Given the description of an element on the screen output the (x, y) to click on. 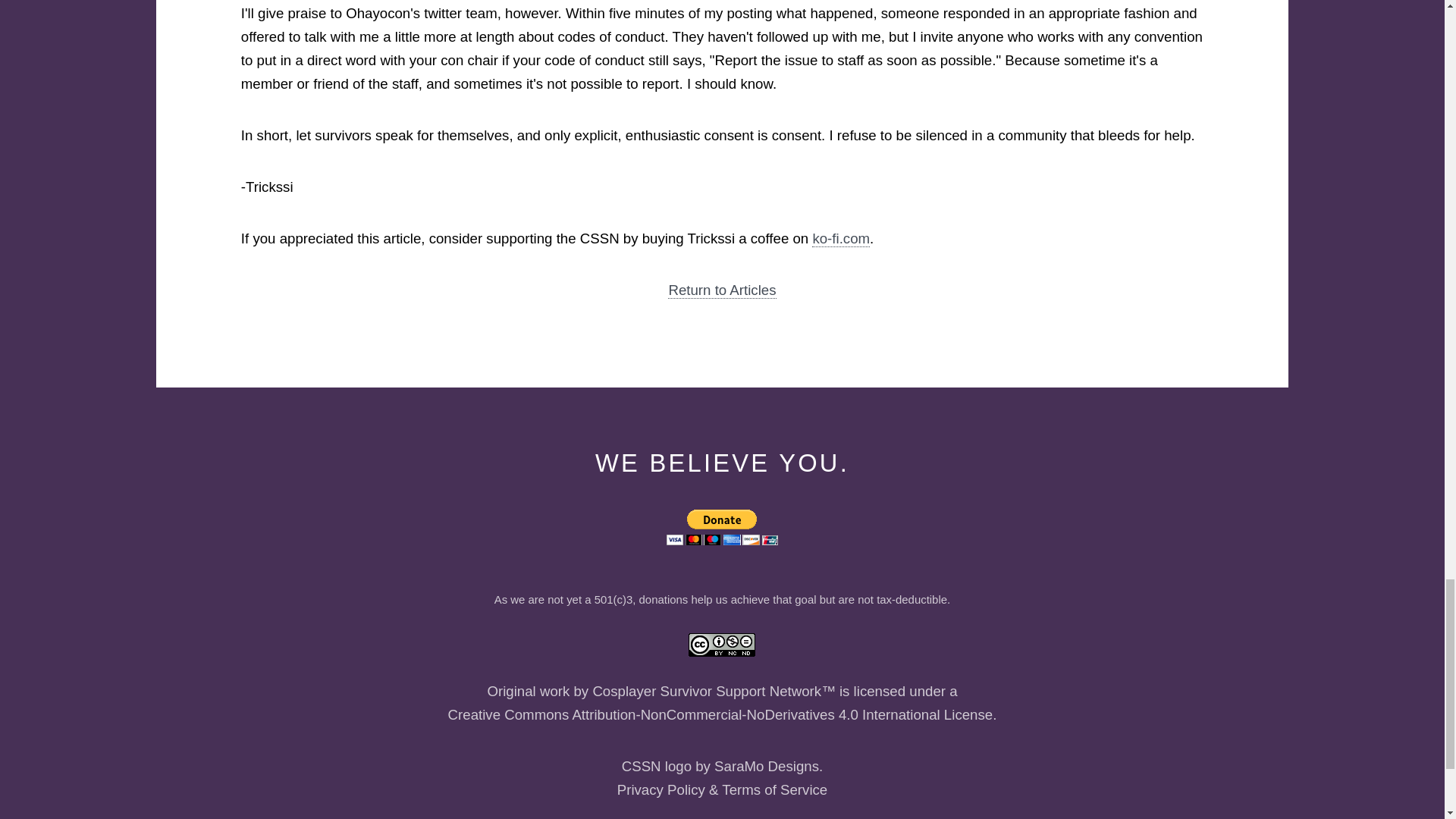
ko-fi.com (840, 238)
Cosplayer Survivor Support Network (706, 691)
SaraMo Designs (766, 766)
Return to Articles (722, 289)
